Given the description of an element on the screen output the (x, y) to click on. 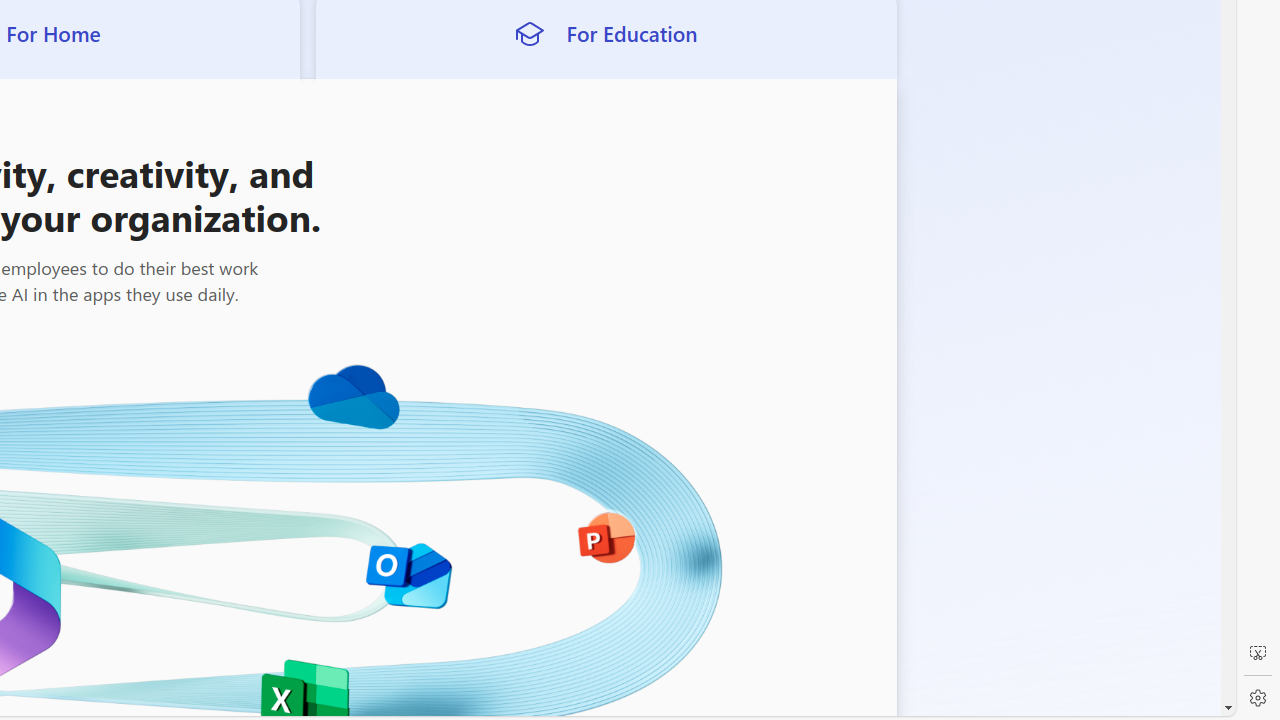
Screenshot Element type: push-button (1258, 653)
Settings Element type: push-button (1258, 698)
